Given the description of an element on the screen output the (x, y) to click on. 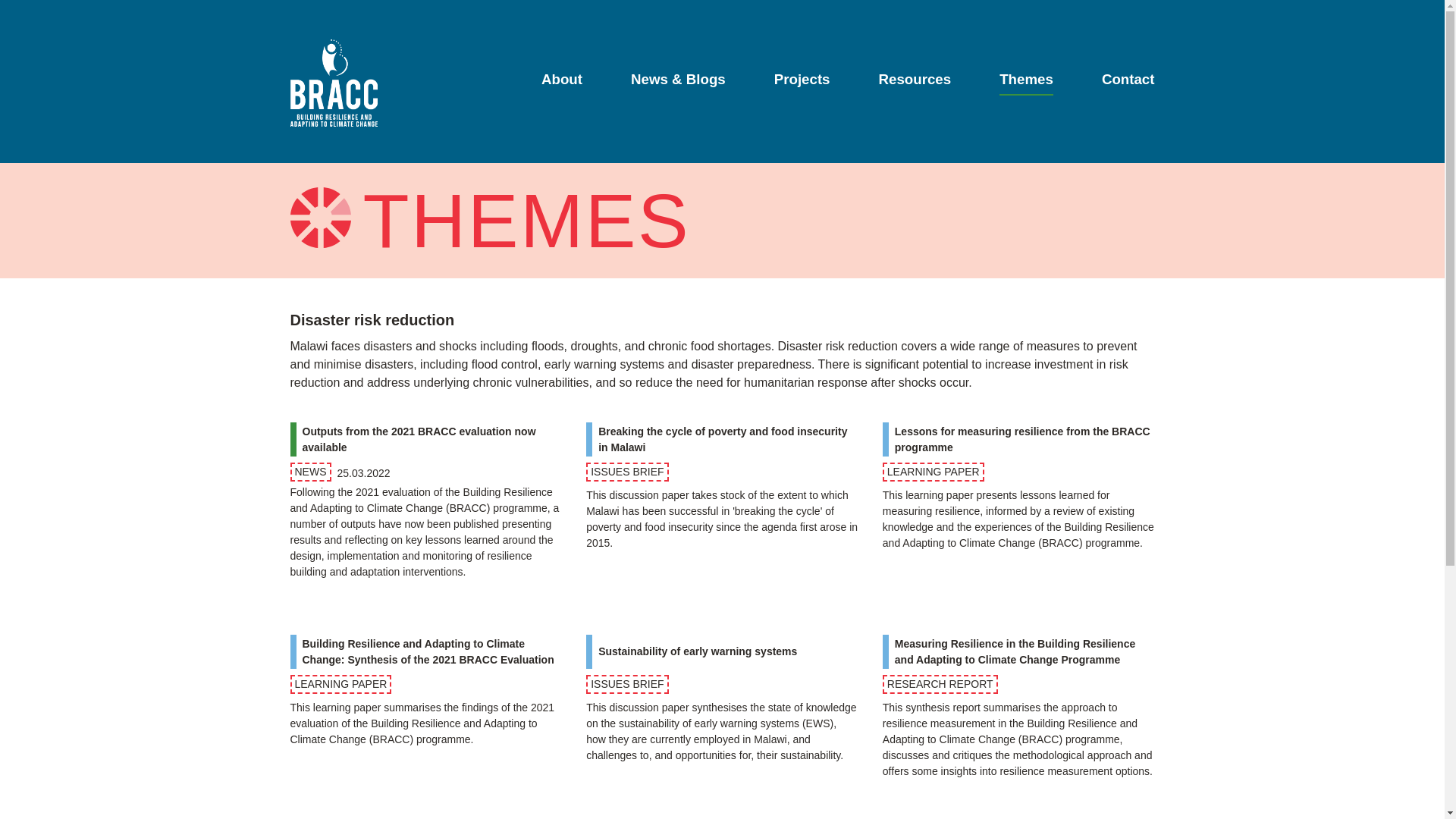
Sustainability of early warning systems (697, 651)
Lessons for measuring resilience from the BRACC programme (1024, 439)
Outputs from the 2021 BRACC evaluation now available (431, 439)
Breaking the cycle of poverty and food insecurity in Malawi (728, 439)
Resources (915, 82)
Contact (1128, 82)
Go to home page (333, 82)
About (561, 82)
Themes (1025, 82)
Projects (801, 82)
